Given the description of an element on the screen output the (x, y) to click on. 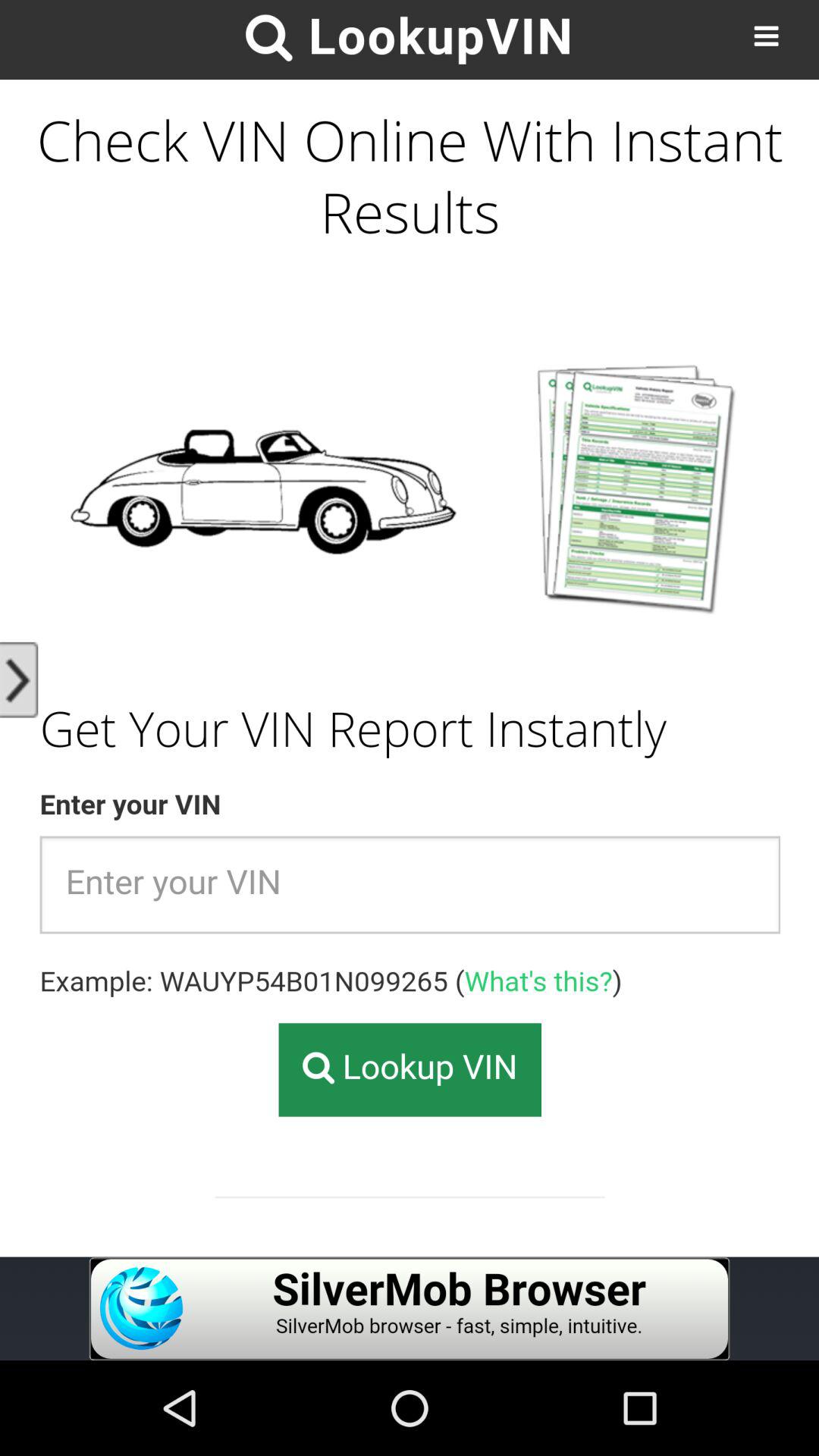
advertisement advertisement (409, 1308)
